Given the description of an element on the screen output the (x, y) to click on. 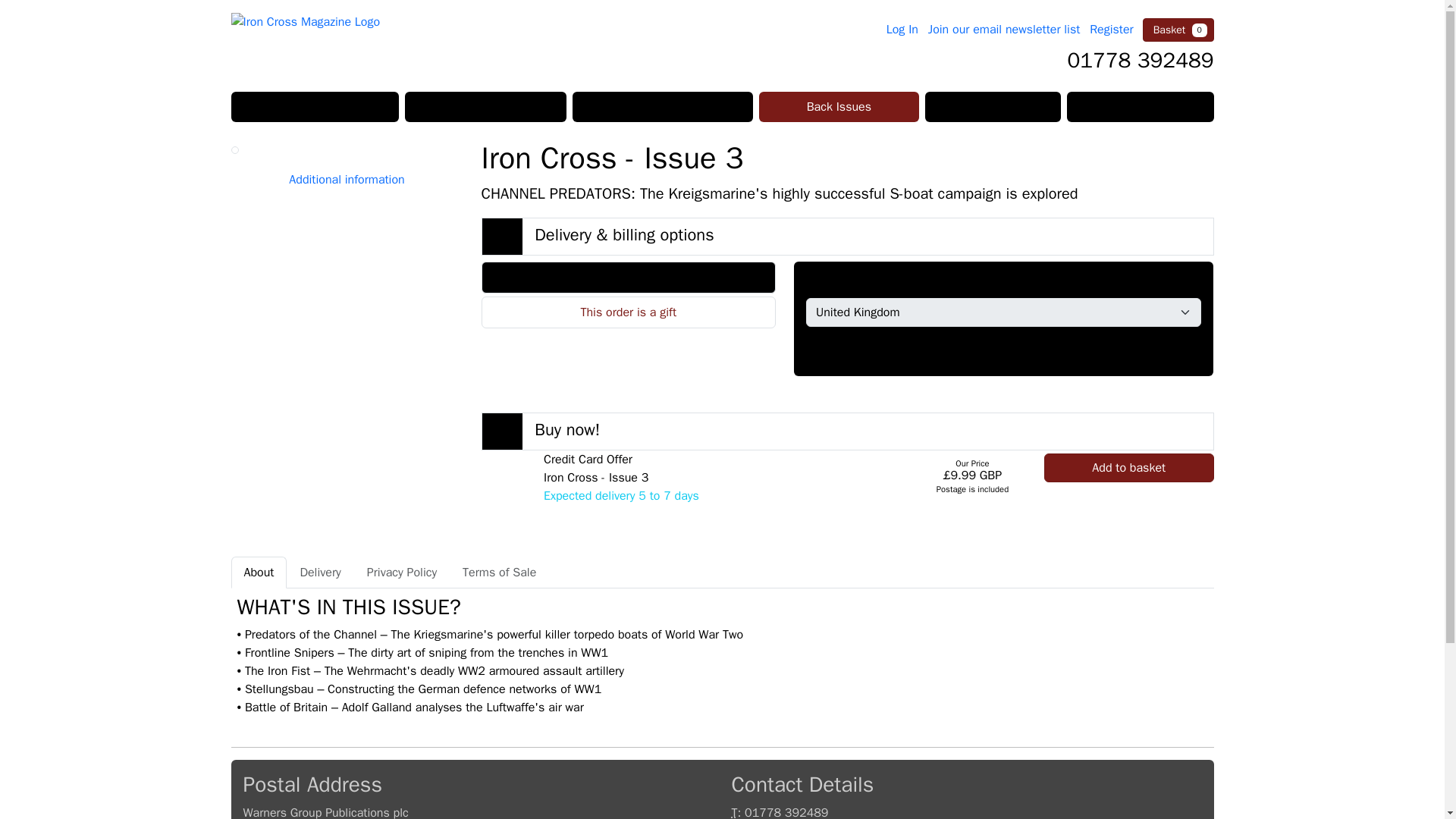
Join our email newsletter list (1004, 29)
Renewals (1139, 106)
Terms of Sale (498, 572)
Add to basket (1128, 467)
Privacy Policy (401, 572)
Special Editions (662, 106)
Log In (902, 29)
 Basket  0 (1177, 29)
This order is for myself (628, 277)
Binders (992, 106)
